Given the description of an element on the screen output the (x, y) to click on. 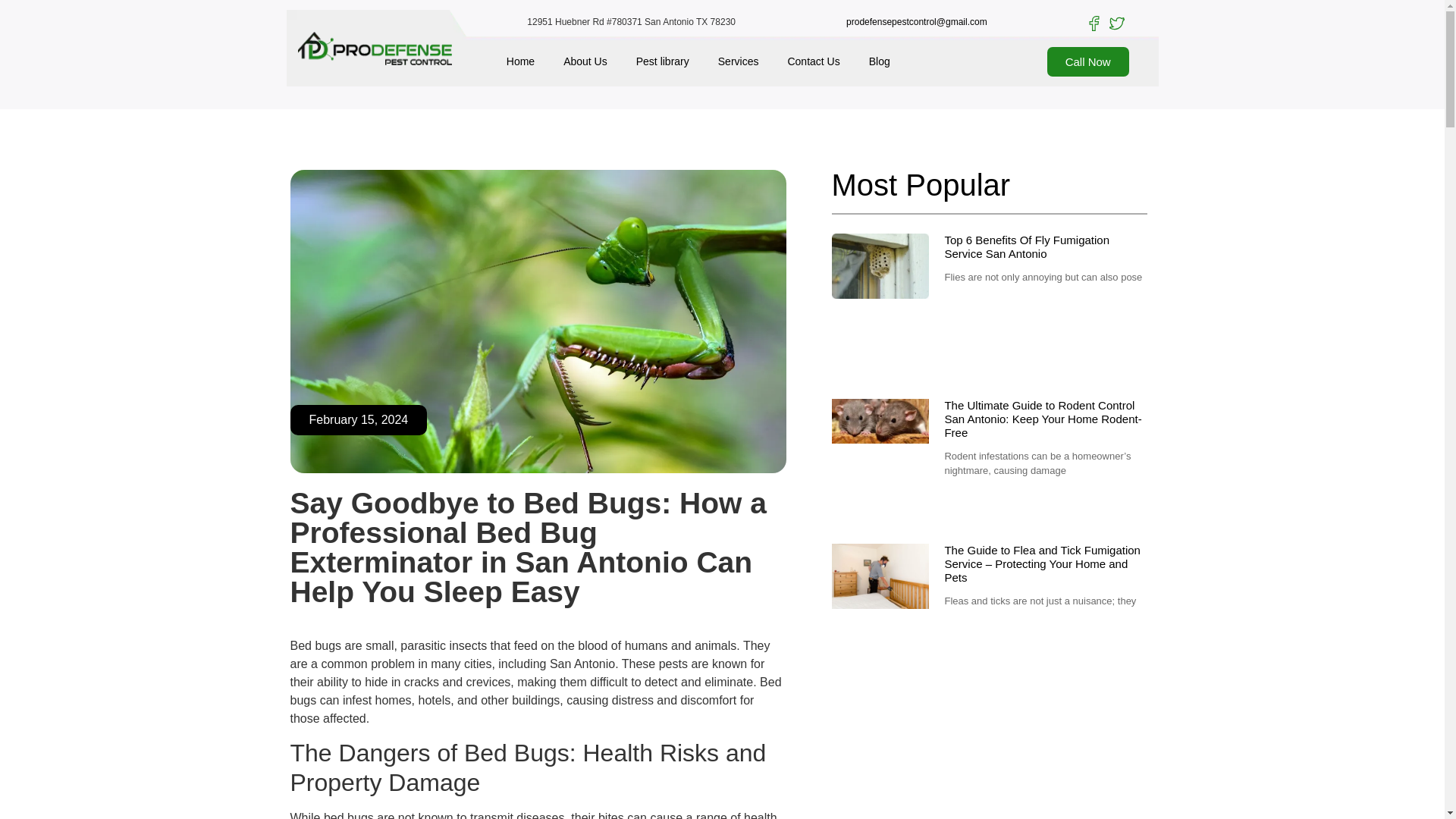
Call Now (1087, 61)
Contact Us (813, 61)
Pest library (662, 61)
Services (738, 61)
Home (520, 61)
About Us (584, 61)
Blog (879, 61)
